Given the description of an element on the screen output the (x, y) to click on. 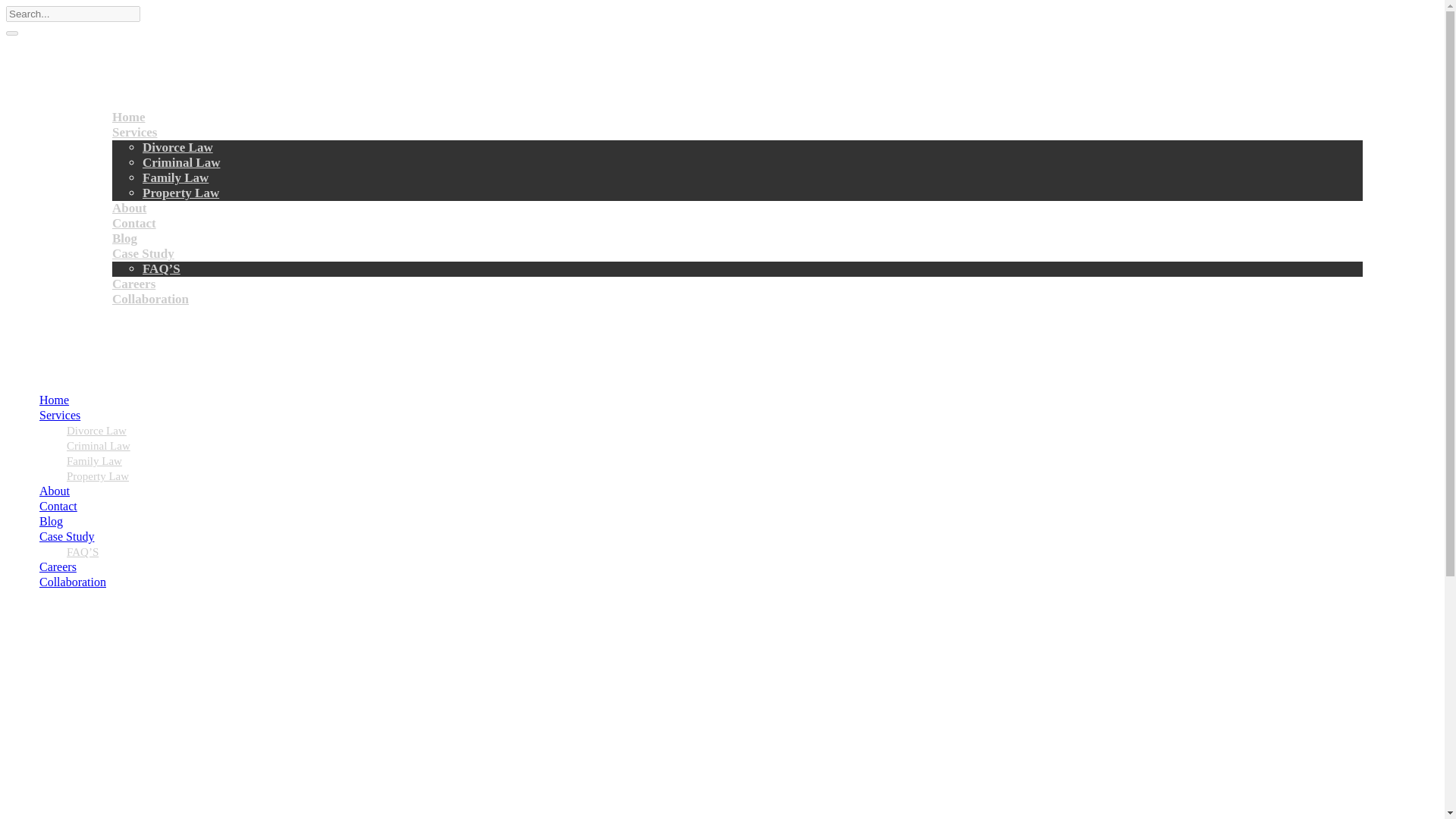
Family Law (94, 460)
Property Law (180, 192)
Blog (49, 521)
Criminal Law (180, 162)
Property Law (97, 476)
Collaboration (150, 298)
Services (134, 132)
Home (52, 399)
Careers (56, 566)
Case Study (65, 535)
About (129, 207)
Home (128, 116)
Family Law (175, 177)
Divorce Law (96, 430)
Collaboration (71, 581)
